Given the description of an element on the screen output the (x, y) to click on. 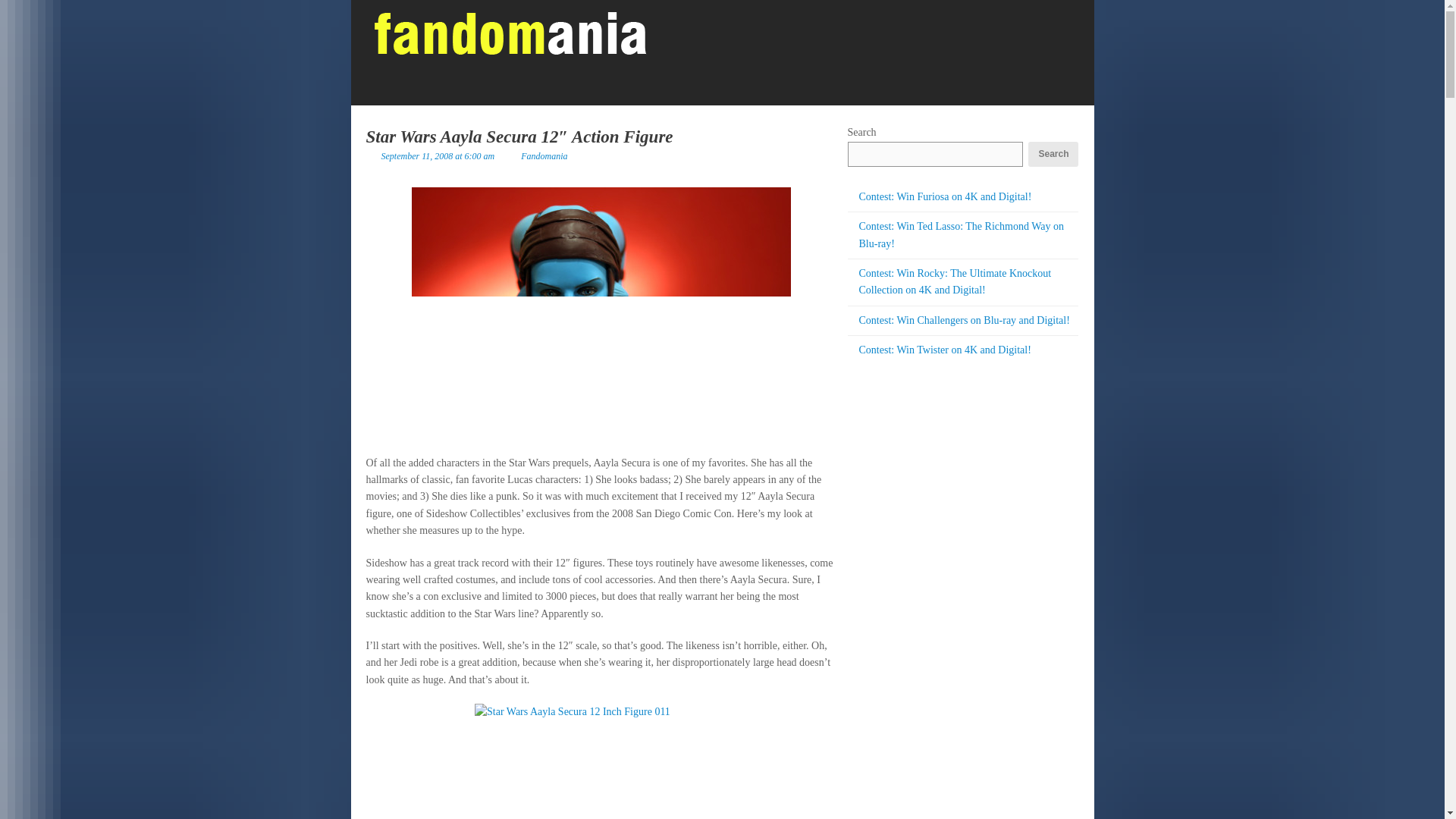
Fandomania (544, 155)
Star Wars Aayla Secura 12 Inch Figure 011 (600, 761)
Posts by Fandomania (544, 155)
Star Wars Aayla Secura 12 Inch Figure 008 (600, 313)
September 11, 2008 at 6:00 am (437, 155)
